Given the description of an element on the screen output the (x, y) to click on. 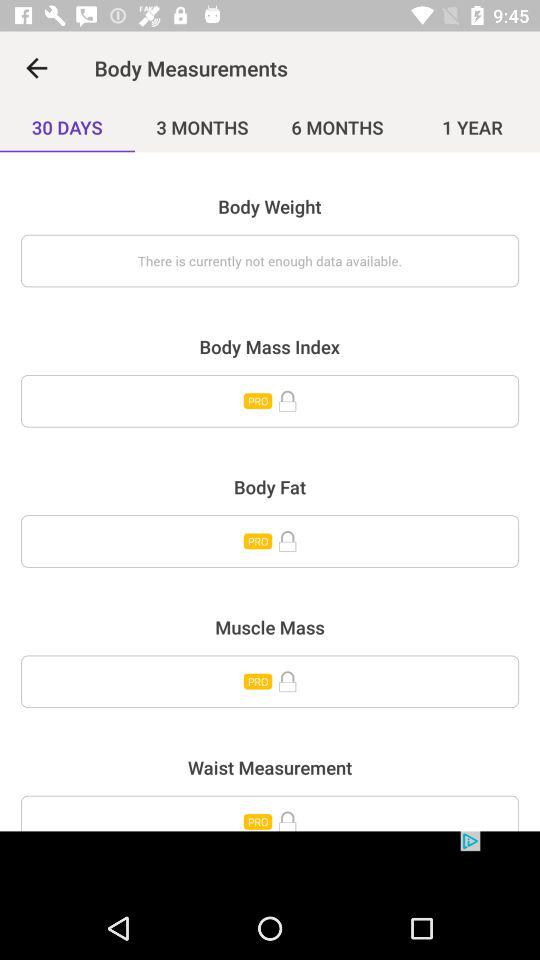
select button (269, 681)
